Given the description of an element on the screen output the (x, y) to click on. 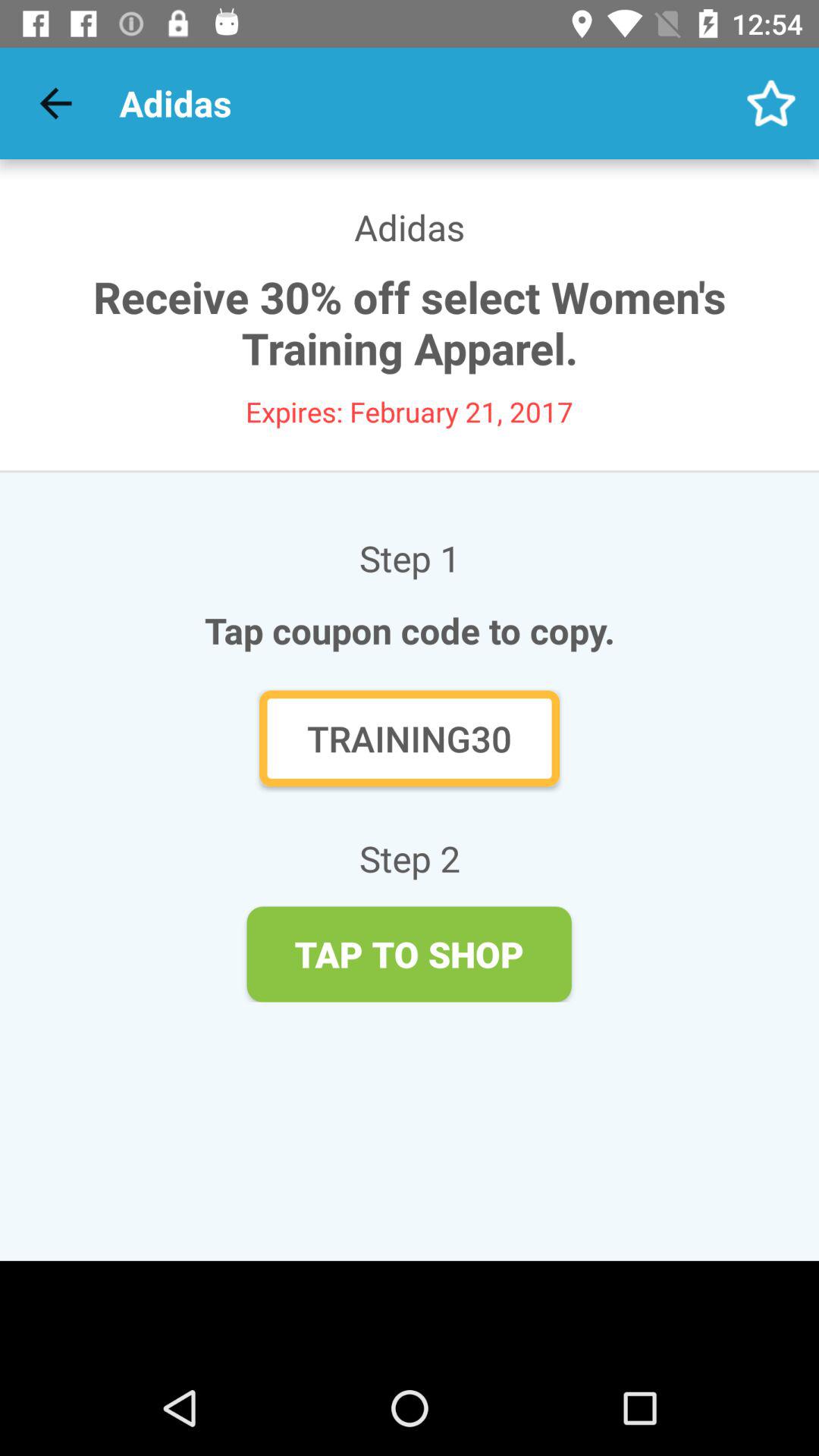
turn off item at the top right corner (771, 103)
